Given the description of an element on the screen output the (x, y) to click on. 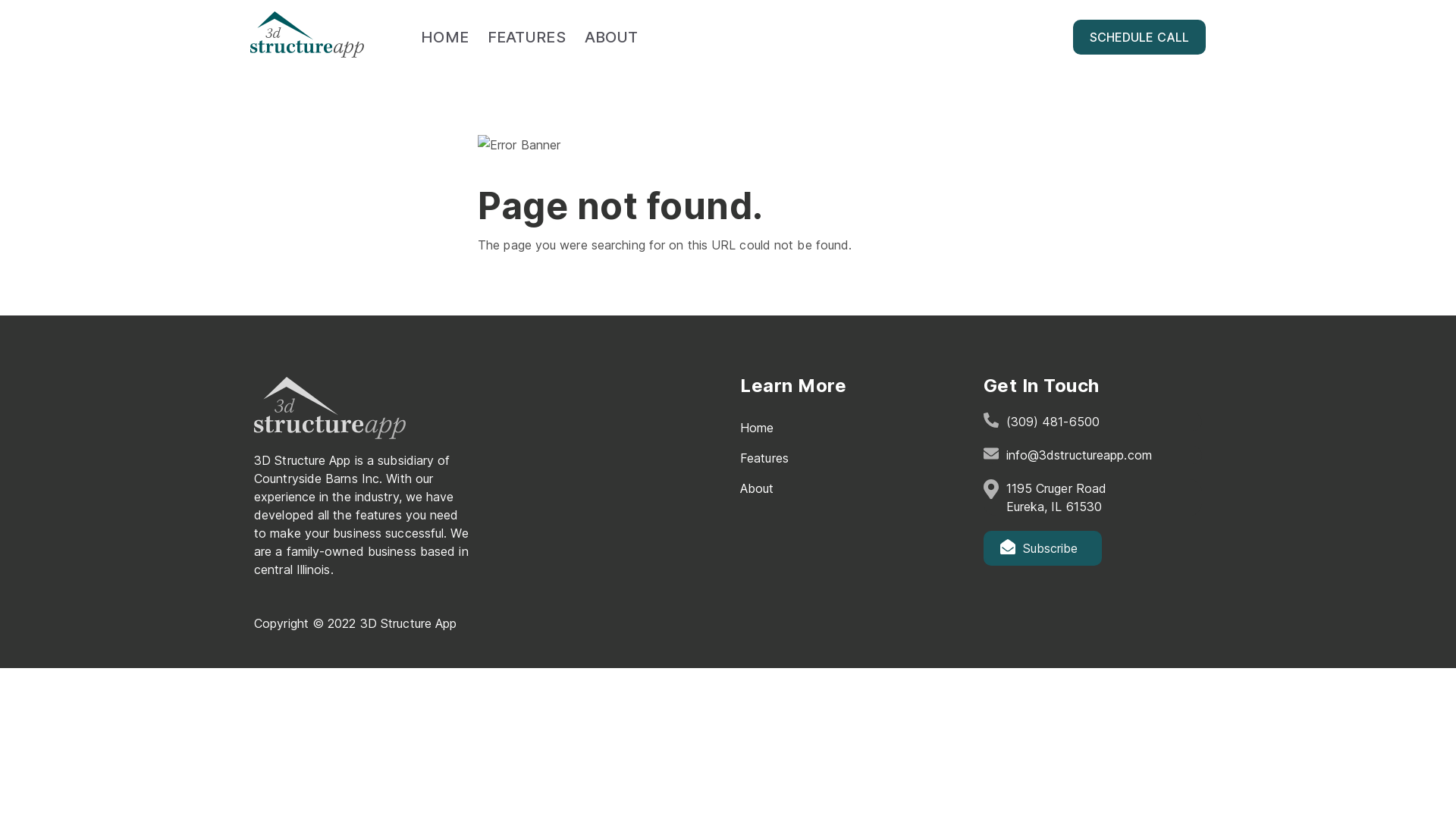
Subscribe Element type: text (1041, 547)
HOME Element type: text (444, 36)
SCHEDULE CALL Element type: text (1139, 36)
FEATURES Element type: text (526, 36)
Features Element type: text (764, 457)
ABOUT Element type: text (611, 36)
Home Element type: text (756, 427)
About Element type: text (757, 487)
